Given the description of an element on the screen output the (x, y) to click on. 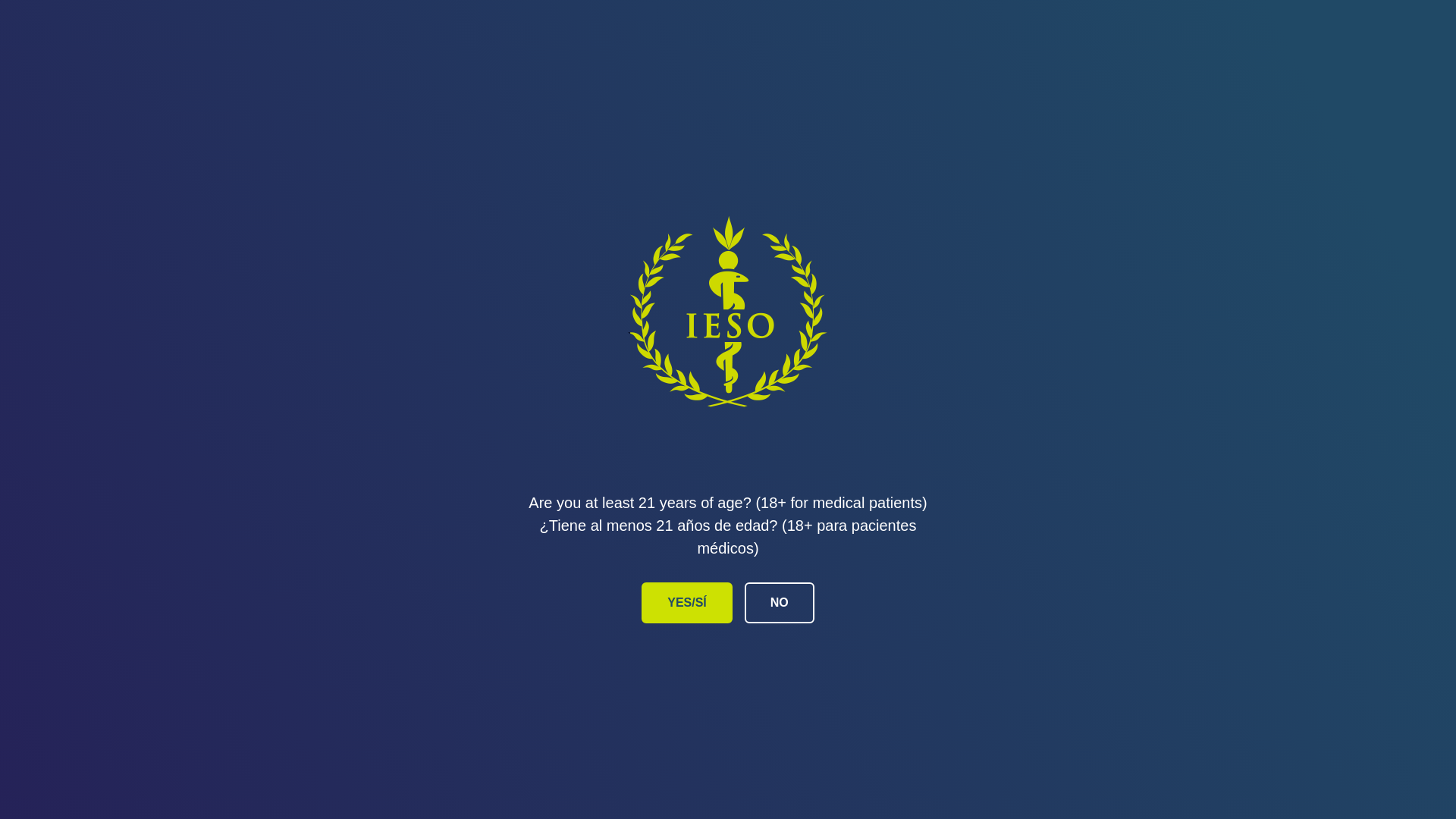
ABOUT US (1155, 58)
elevate your day (185, 58)
BRANDS (746, 58)
STRAINS (880, 58)
CAREERS (1010, 58)
